Given the description of an element on the screen output the (x, y) to click on. 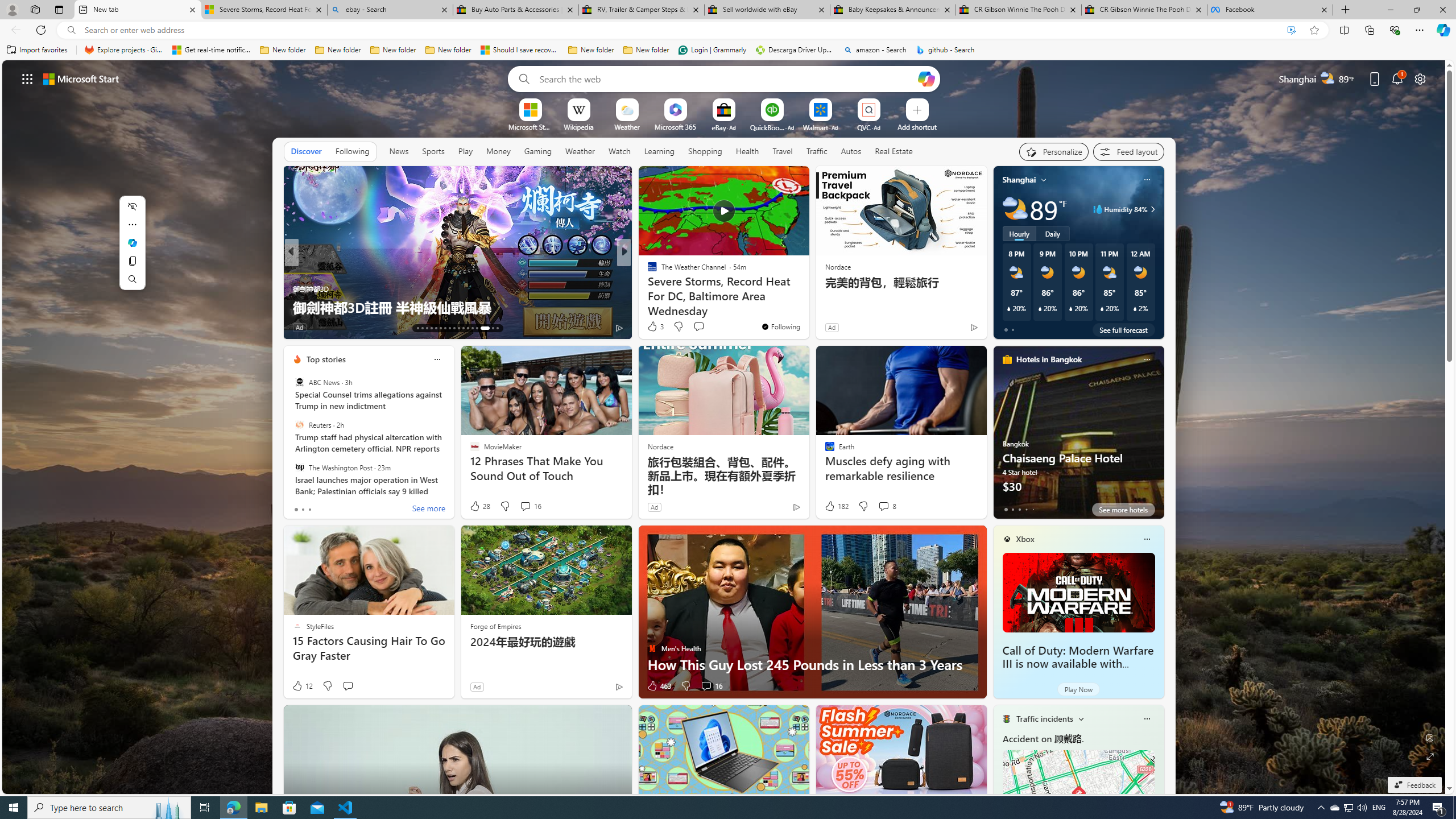
Login | Grammarly (712, 49)
182 Like (835, 505)
See more hotels (1123, 509)
Add this page to favorites (Ctrl+D) (1314, 29)
Feed settings (1128, 151)
Real Estate (893, 151)
Learning (658, 151)
tab-3 (1025, 509)
View comments 16 Comment (705, 685)
Start the conversation (347, 685)
Shanghai (1018, 179)
Autos (851, 151)
Minimize (1390, 9)
Class: weather-arrow-glyph (1152, 208)
